Given the description of an element on the screen output the (x, y) to click on. 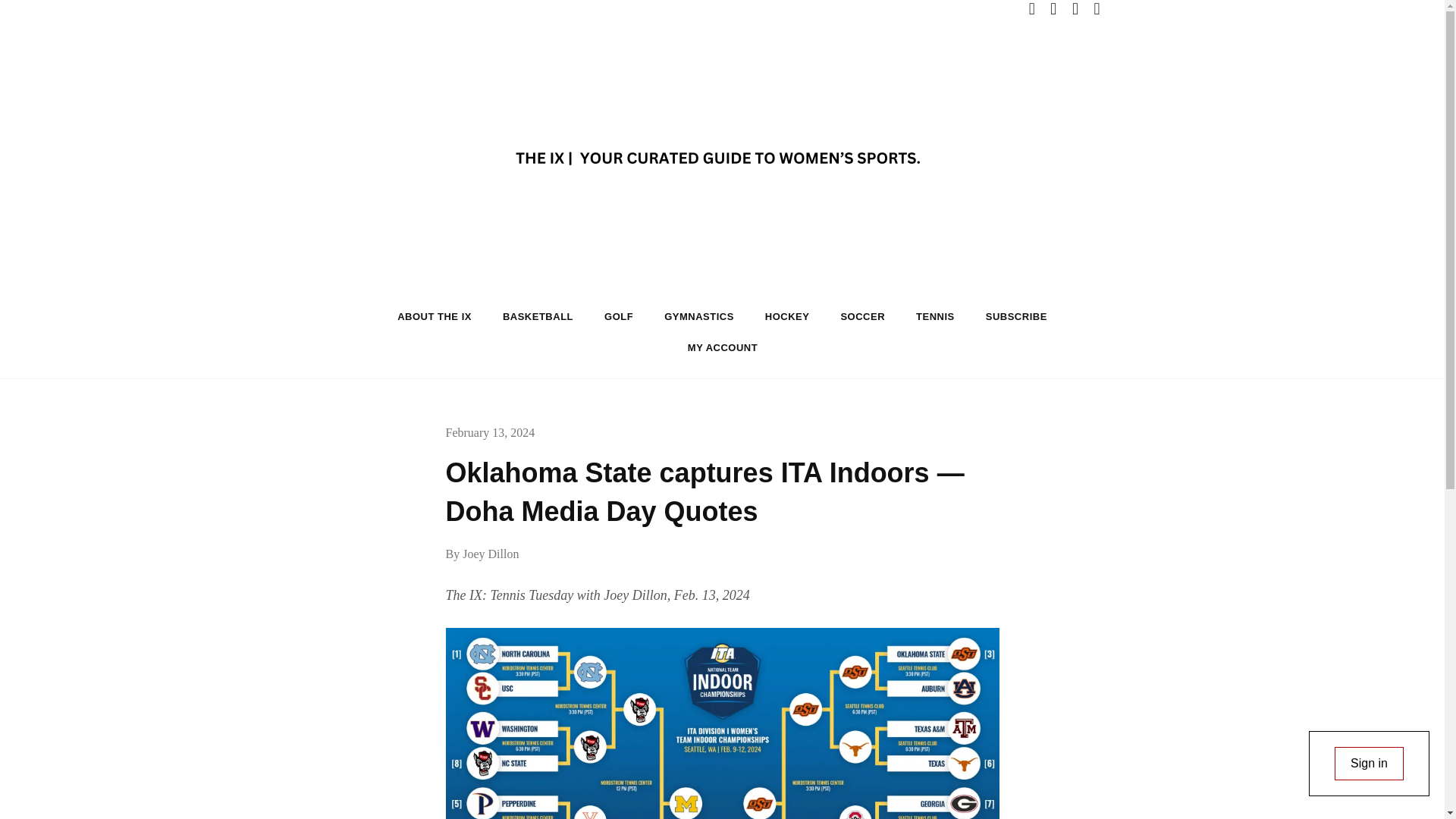
SOCCER (862, 316)
TENNIS (935, 316)
GYMNASTICS (699, 316)
GOLF (618, 316)
Joey Dillon (490, 553)
MY ACCOUNT (722, 347)
HOCKEY (787, 316)
ABOUT THE IX (433, 316)
SUBSCRIBE (1016, 316)
DI-Womens-Indoor-Draw-Final (721, 723)
